Given the description of an element on the screen output the (x, y) to click on. 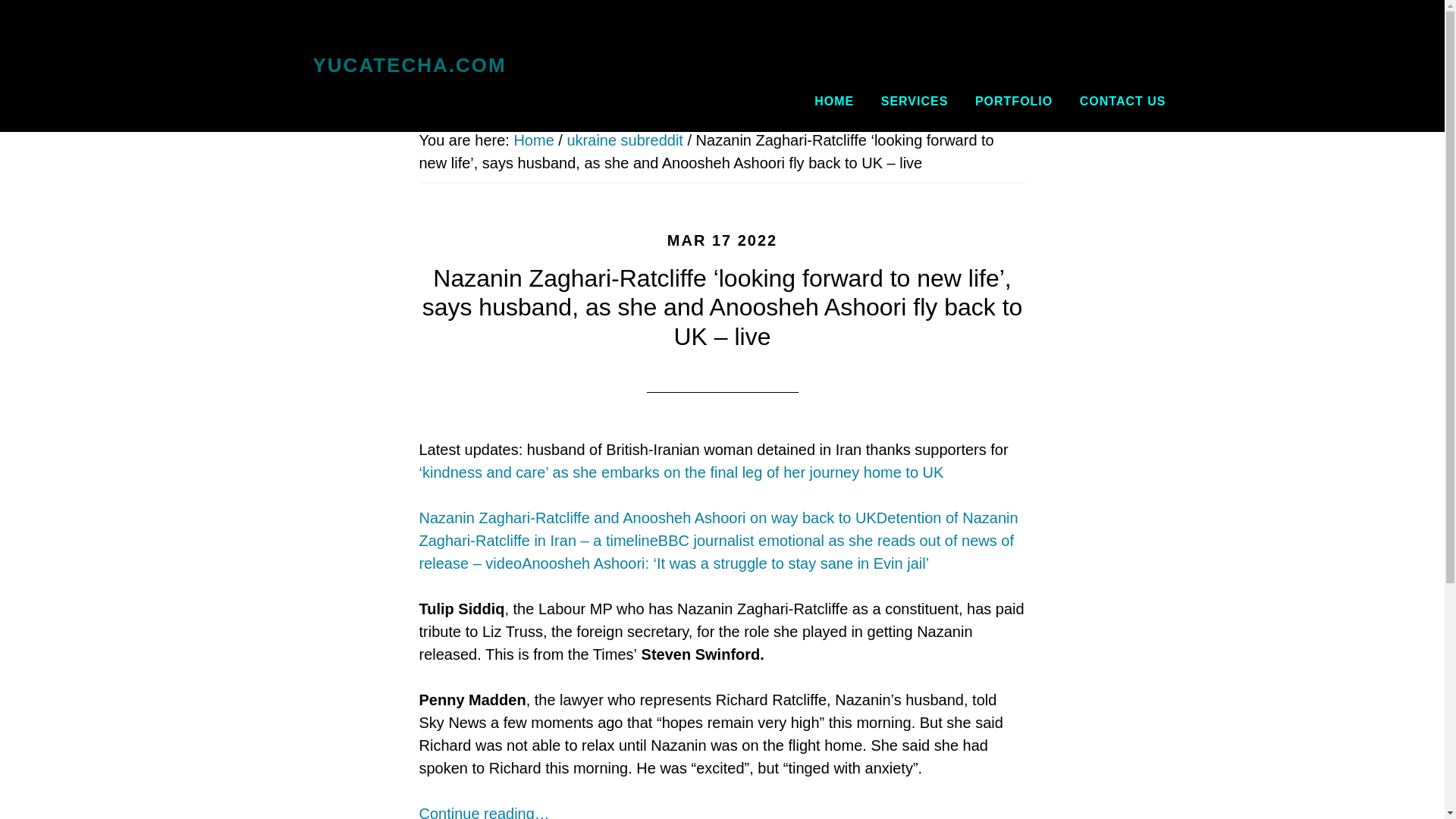
YUCATECHA.COM (409, 65)
ukraine subreddit (624, 139)
Home (533, 139)
HOME (833, 101)
PORTFOLIO (1013, 101)
CONTACT US (1122, 101)
SERVICES (914, 101)
